Given the description of an element on the screen output the (x, y) to click on. 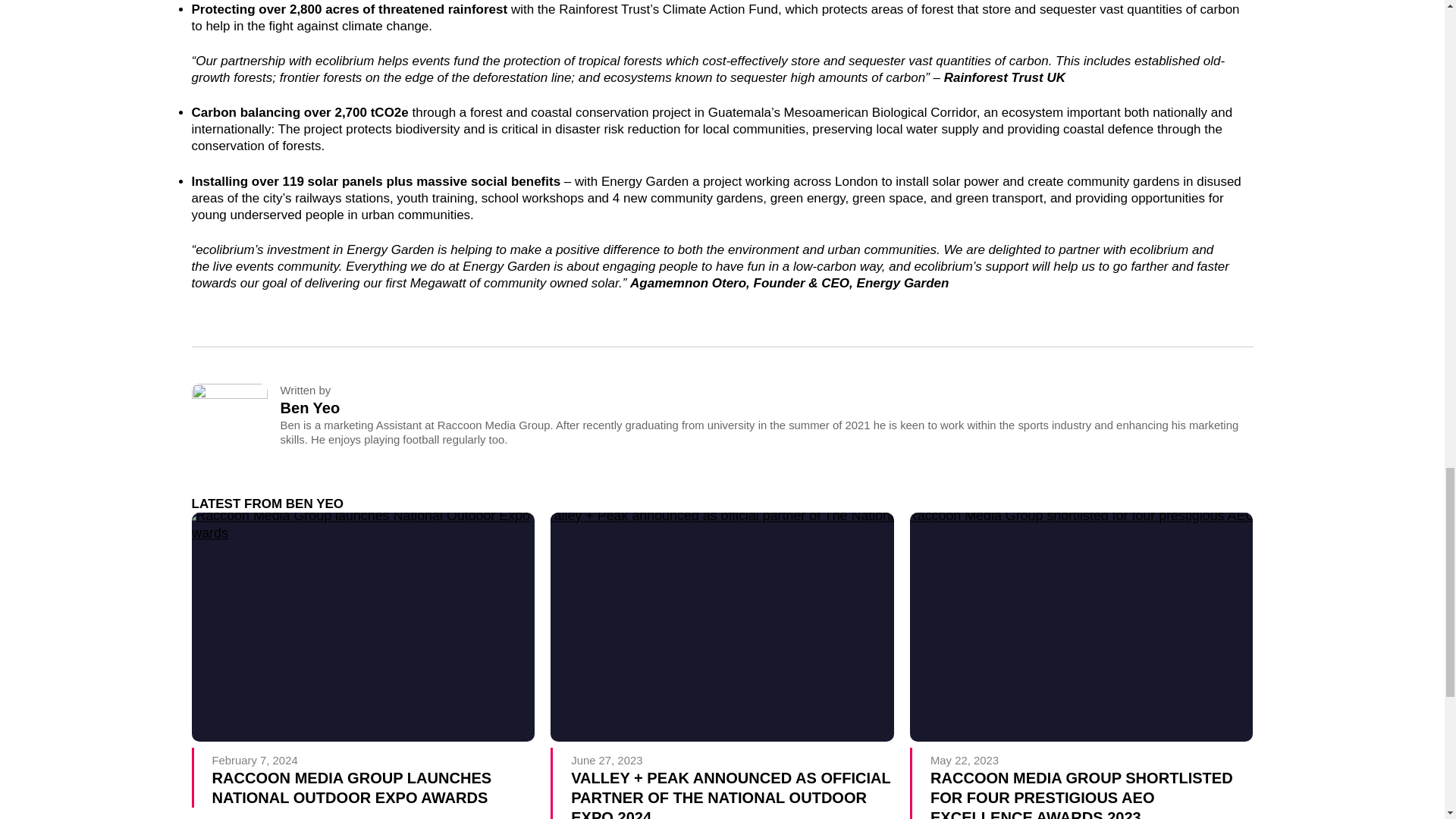
RACCOON MEDIA GROUP LAUNCHES NATIONAL OUTDOOR EXPO AWARDS (373, 787)
